Given the description of an element on the screen output the (x, y) to click on. 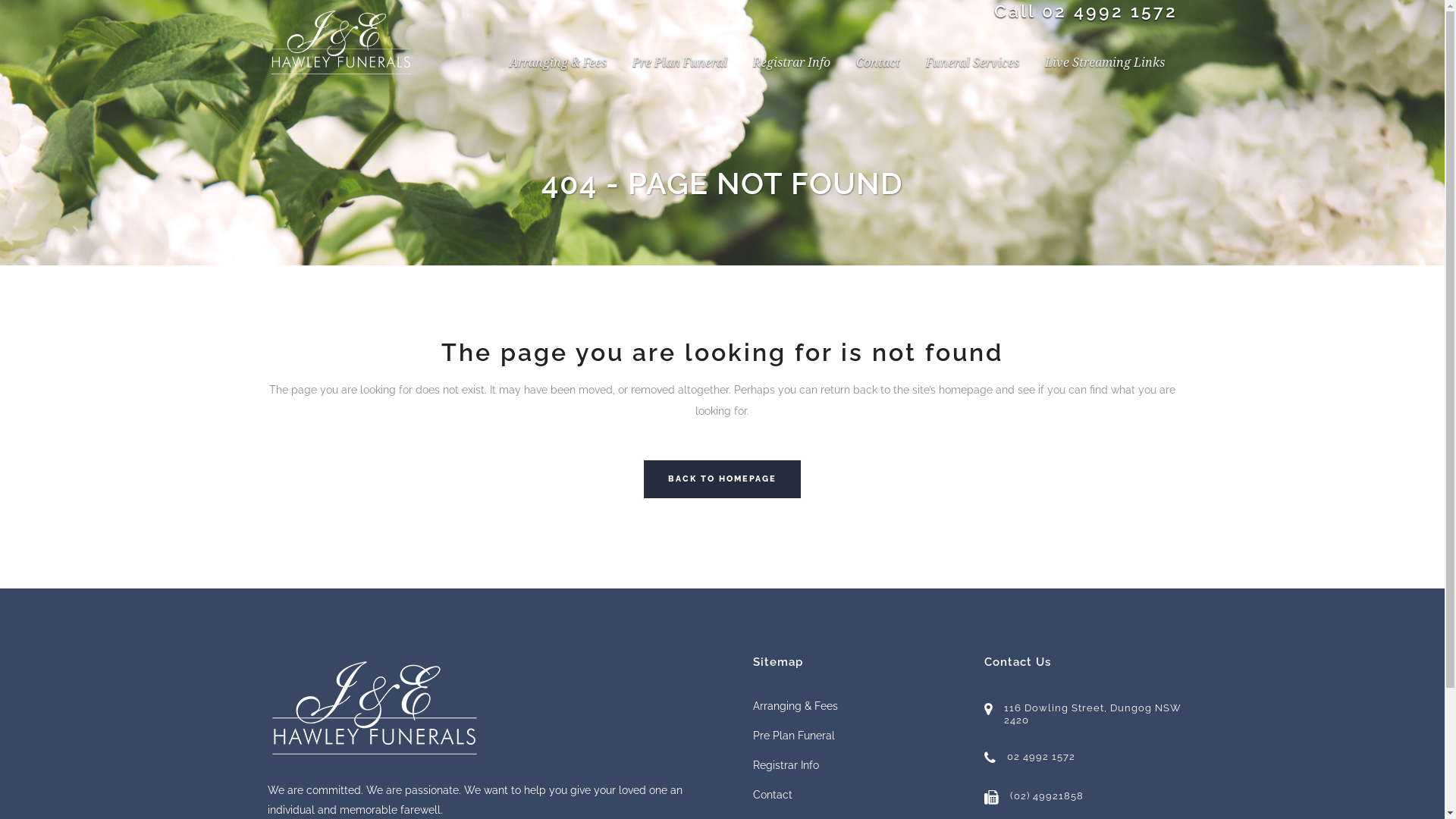
Registrar Info Element type: text (791, 62)
02 4992 1572 Element type: text (1109, 10)
Live Streaming Links Element type: text (1103, 62)
Pre Plan Funeral Element type: text (678, 62)
Registrar Info Element type: text (854, 764)
BACK TO HOMEPAGE Element type: text (721, 479)
Pre Plan Funeral Element type: text (854, 735)
Contact Element type: text (854, 794)
02 4992 1572 Element type: text (1086, 763)
Arranging & Fees Element type: text (854, 705)
Contact Element type: text (878, 62)
Arranging & Fees Element type: text (556, 62)
Funeral Services Element type: text (972, 62)
